Given the description of an element on the screen output the (x, y) to click on. 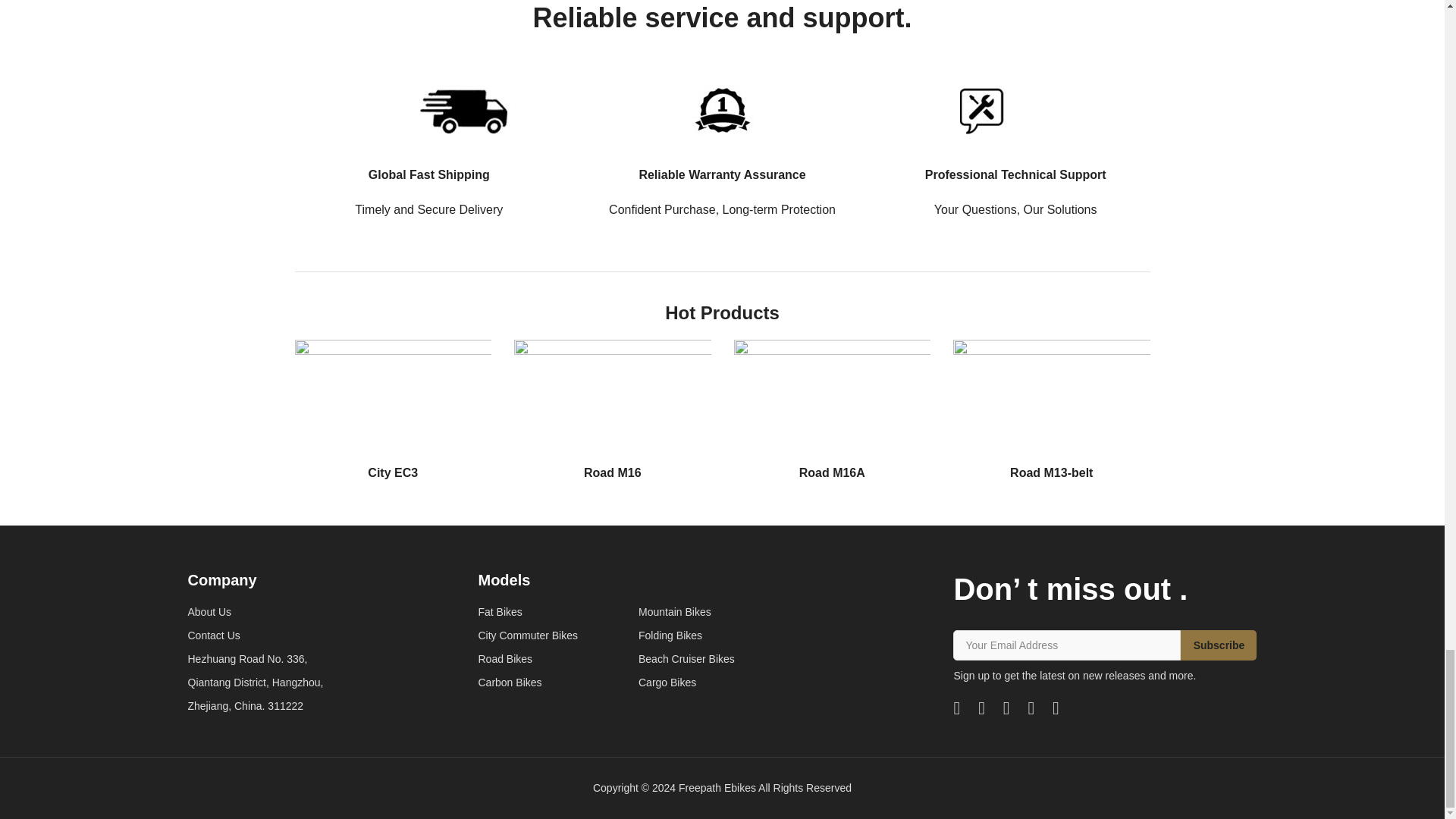
About Us (255, 611)
Road M16 (612, 409)
City EC3 (393, 409)
City EC3 (393, 409)
Road M16A (832, 409)
Road M13-belt (1051, 409)
Road M13-belt (1051, 409)
Road M16 (612, 409)
Road M16A (832, 409)
